Given the description of an element on the screen output the (x, y) to click on. 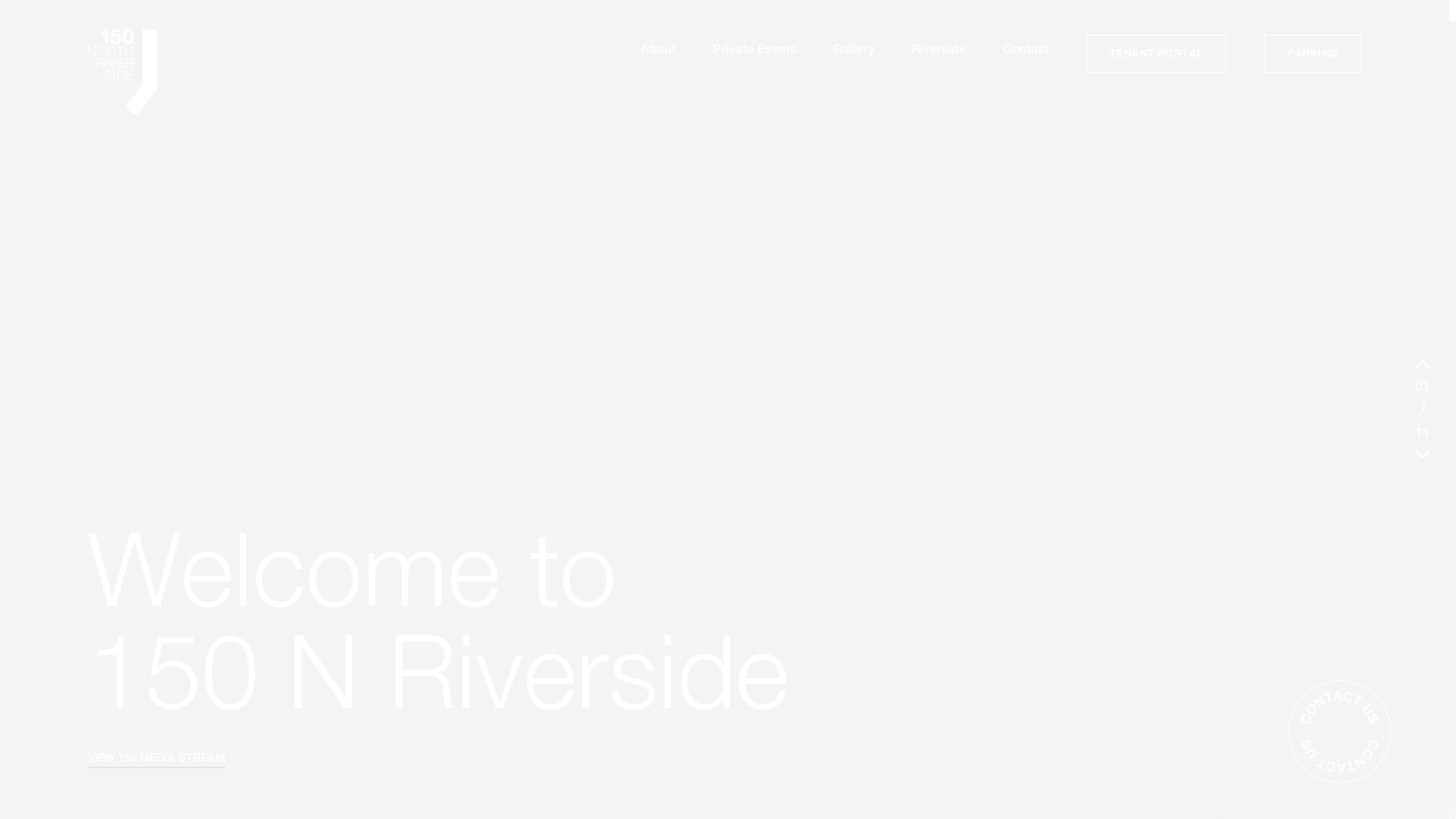
PARKING Element type: text (1312, 53)
Gallery Element type: text (854, 48)
About Element type: text (657, 48)
Private Events Element type: text (754, 48)
VIEW 150 MEDIA STREAM Element type: text (156, 757)
Riverside Element type: text (938, 48)
TENANT PORTAL Element type: text (1155, 53)
home Element type: hover (129, 72)
Contact Element type: text (1026, 48)
